Given the description of an element on the screen output the (x, y) to click on. 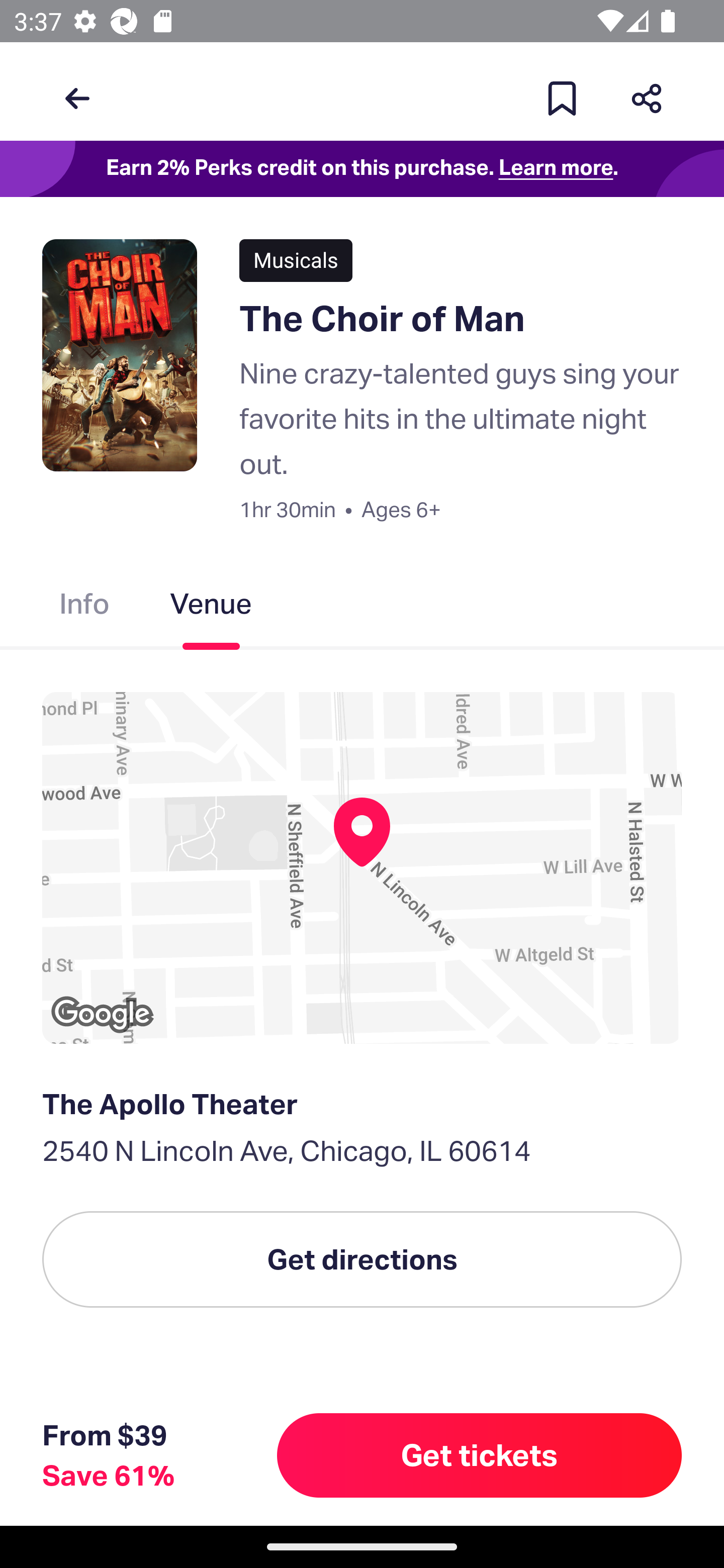
Earn 2% Perks credit on this purchase. Learn more. (362, 169)
Info (83, 607)
Google Map The Apollo Theater.  (361, 867)
Get directions (361, 1258)
Get tickets (479, 1454)
